Given the description of an element on the screen output the (x, y) to click on. 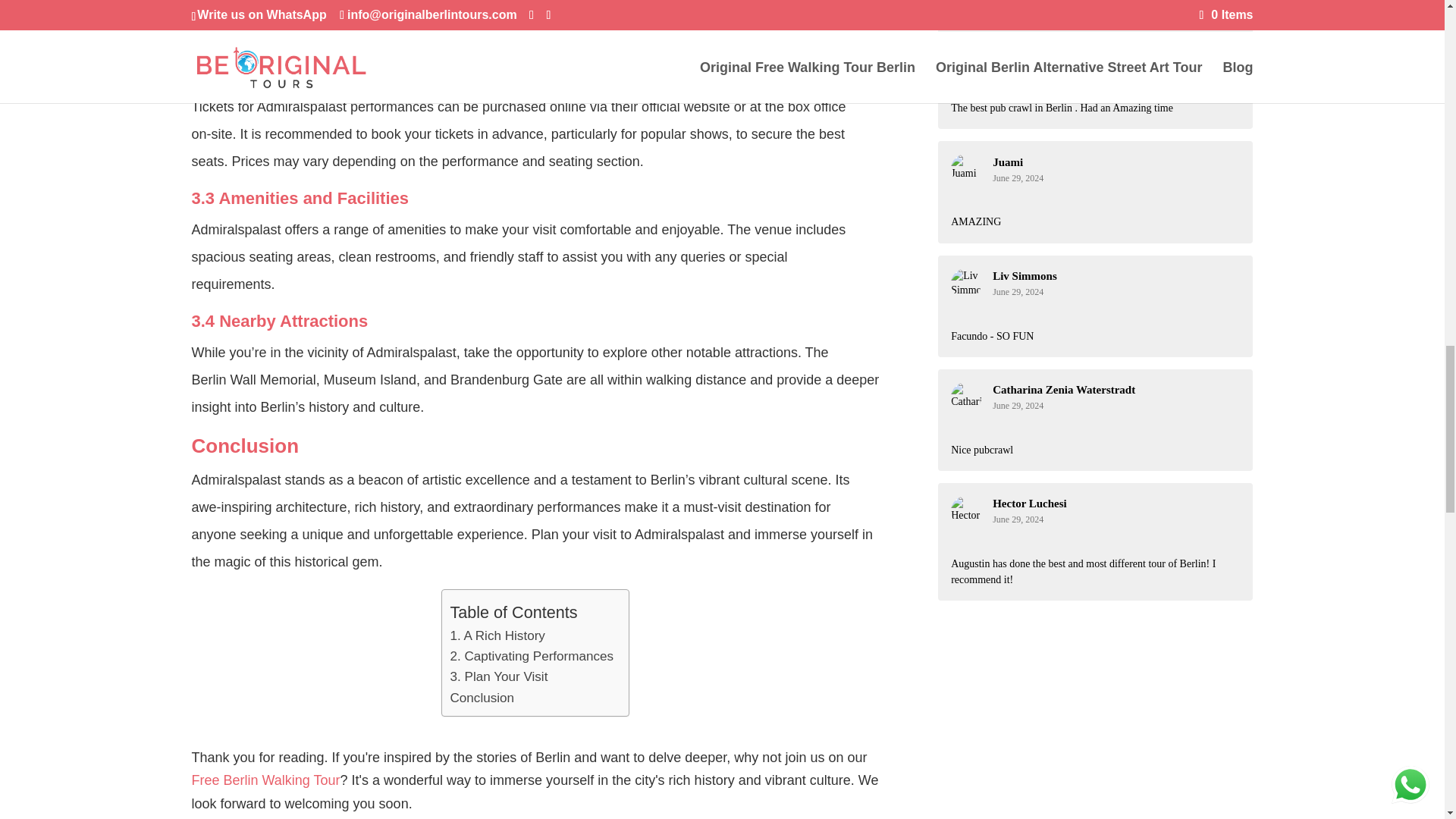
3. Plan Your Visit (498, 676)
1. A Rich History (496, 635)
Write a review (1043, 7)
Conclusion (481, 697)
Free Berlin Walking Tour (264, 780)
2. Captivating Performances (530, 656)
Conclusion (481, 697)
1. A Rich History (496, 635)
3. Plan Your Visit (498, 676)
2. Captivating Performances (530, 656)
